Given the description of an element on the screen output the (x, y) to click on. 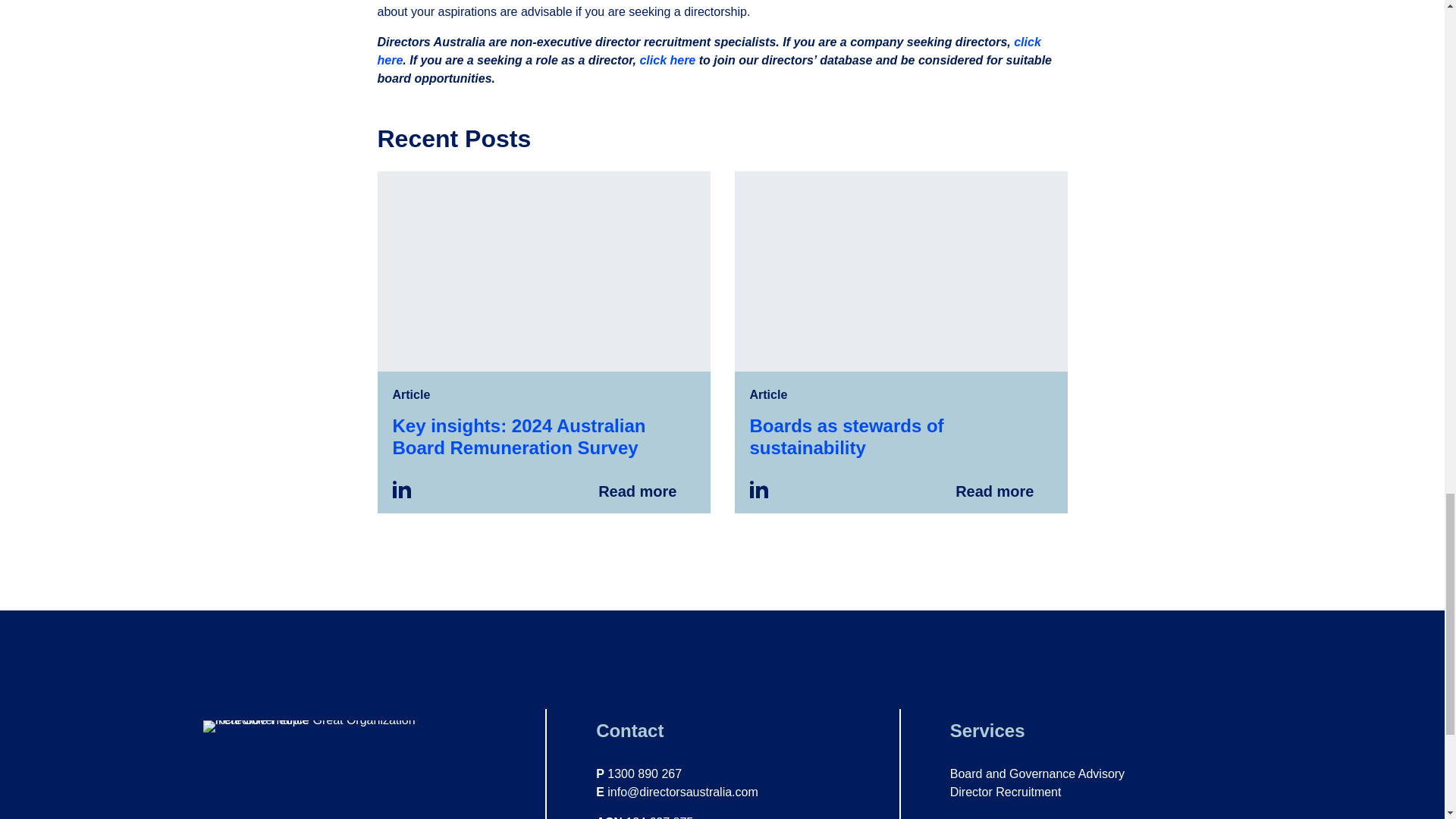
Director Recruitment (1005, 791)
click here (667, 60)
click here (709, 51)
directors-australia-promise (335, 726)
1300 890 267 (644, 773)
Board and Governance Advisory (1037, 773)
Article (411, 394)
Article (768, 394)
Read more (900, 341)
Read more (543, 341)
